Given the description of an element on the screen output the (x, y) to click on. 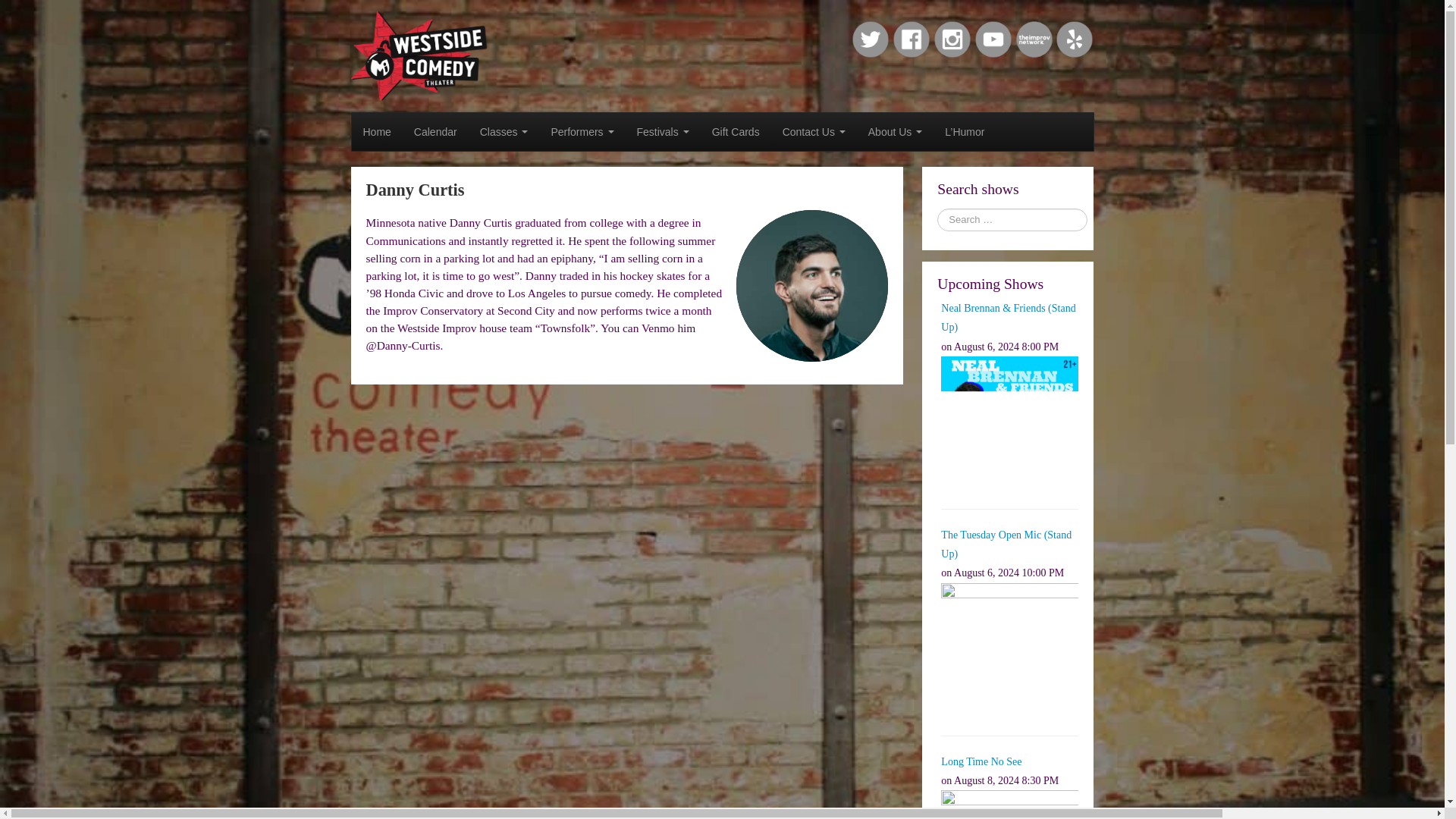
Home (377, 132)
Westside Comedy YouTube (992, 38)
About Us (895, 132)
Westside Comedy Yelp (1074, 38)
Permalink to Danny Curtis (414, 189)
Westside Comedy Instagram (952, 38)
Westside Comedy Twitter (870, 38)
Westside Comedy (418, 54)
Classes (504, 132)
Contact Us (814, 132)
